Given the description of an element on the screen output the (x, y) to click on. 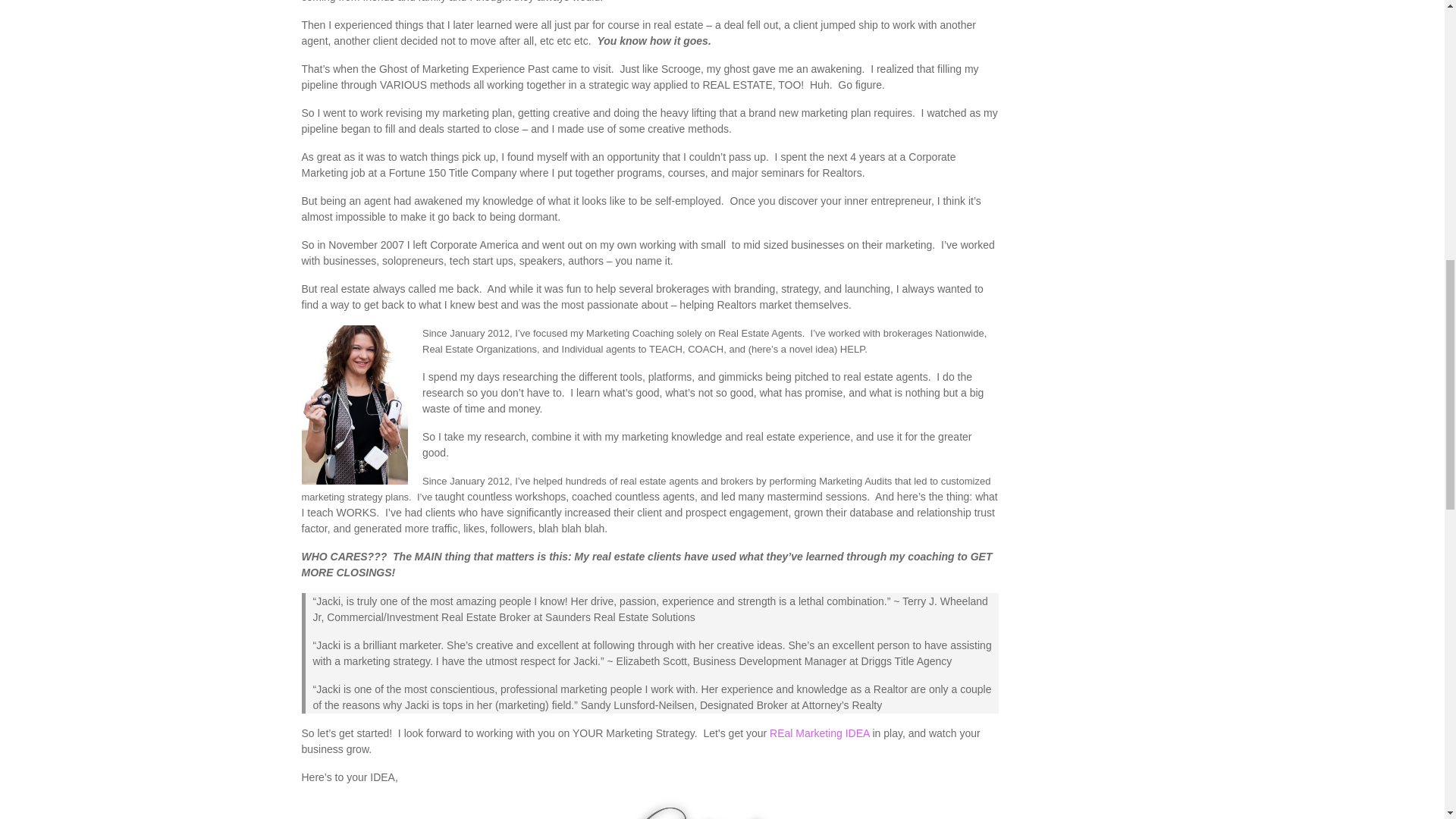
REal Marketing IDEA (819, 733)
